Given the description of an element on the screen output the (x, y) to click on. 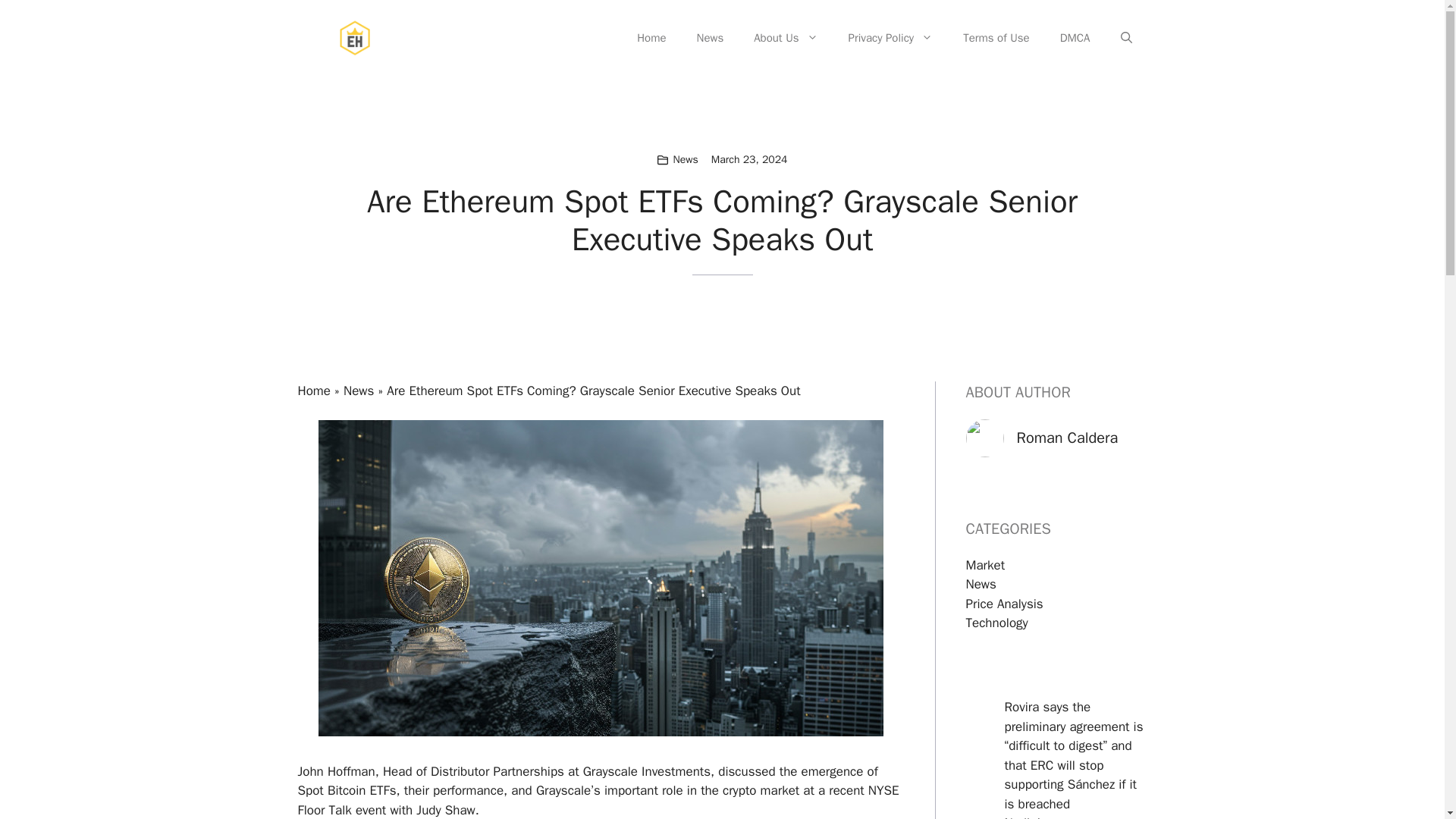
News (358, 390)
Privacy Policy (890, 37)
Roman Caldera (1067, 437)
News (980, 584)
Home (651, 37)
Terms of Use (996, 37)
News (685, 159)
Home (313, 390)
Price Analysis (1004, 603)
